Given the description of an element on the screen output the (x, y) to click on. 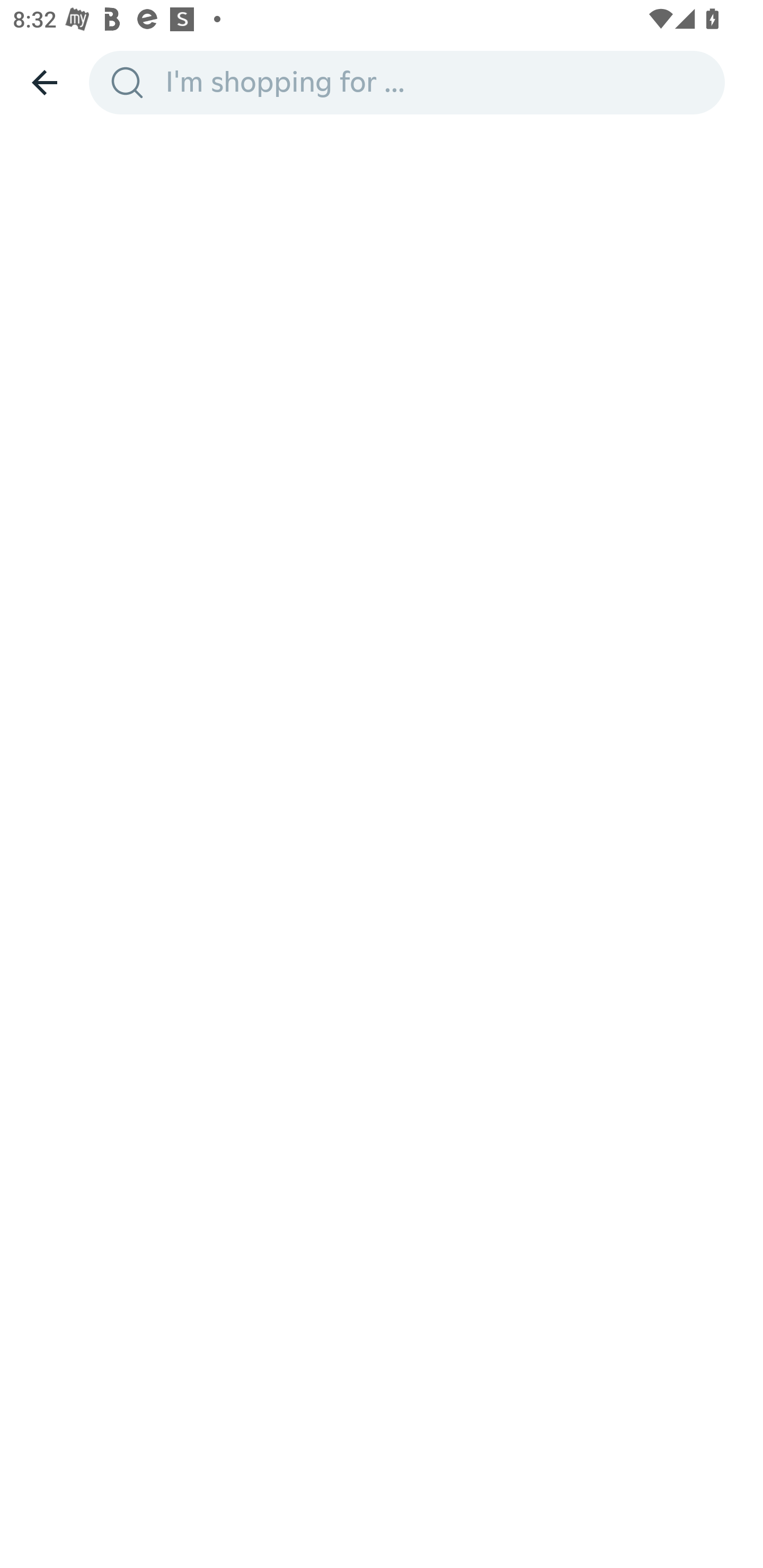
Navigate up (44, 82)
I'm shopping for ... (438, 81)
